Given the description of an element on the screen output the (x, y) to click on. 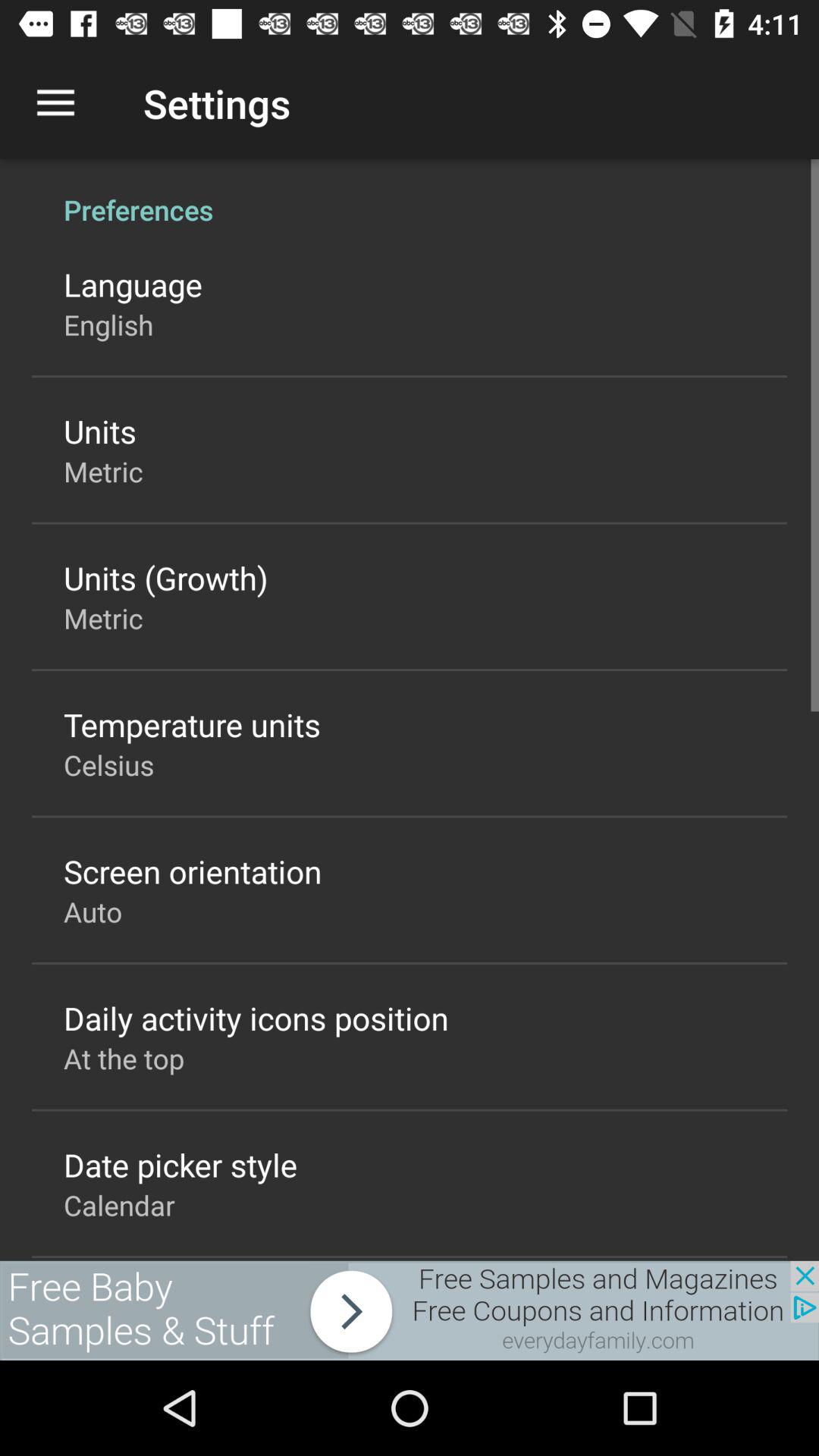
advertisement (409, 1310)
